Given the description of an element on the screen output the (x, y) to click on. 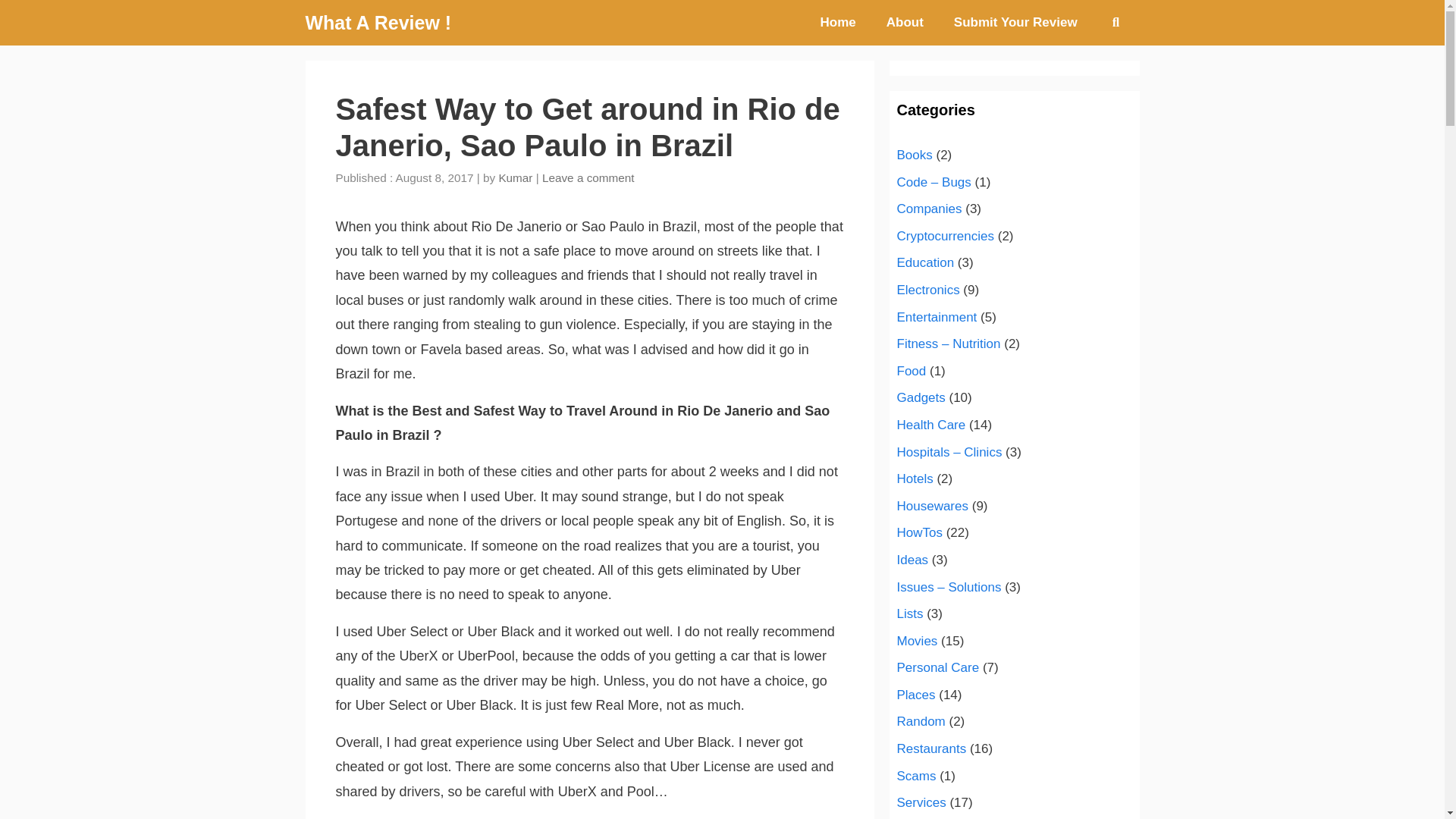
Gadgets (920, 397)
Leave a comment (587, 177)
Personal Care (937, 667)
Food (911, 370)
Hotels (914, 478)
Companies (928, 208)
View all posts by Kumar (514, 177)
Health Care (930, 424)
Random (920, 721)
Movies (916, 640)
